Given the description of an element on the screen output the (x, y) to click on. 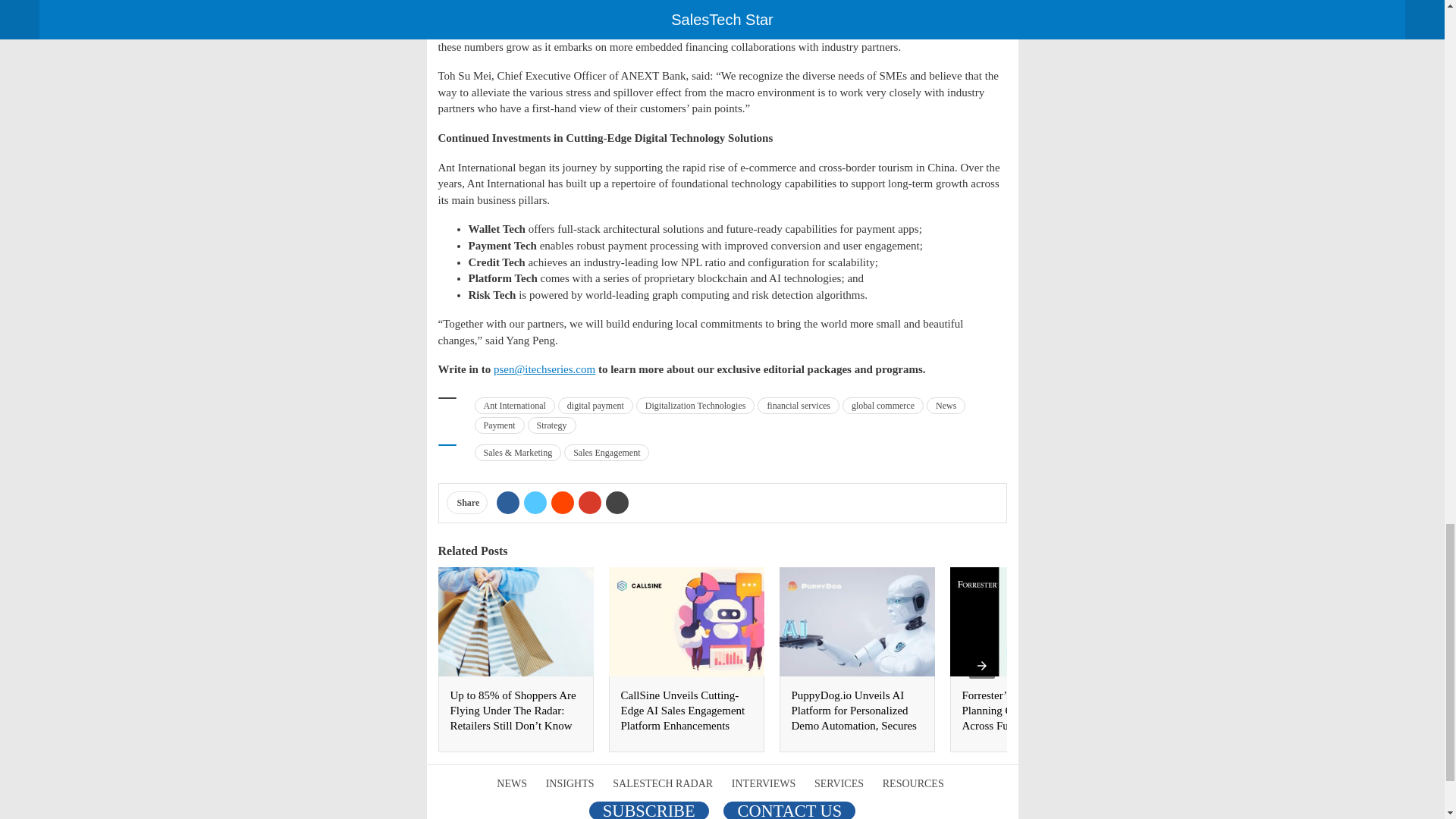
Strategy (551, 425)
Payment (499, 425)
digital payment (595, 405)
Sales Engagement (606, 452)
Ant International (514, 405)
News (945, 405)
financial services (798, 405)
global commerce (883, 405)
